Given the description of an element on the screen output the (x, y) to click on. 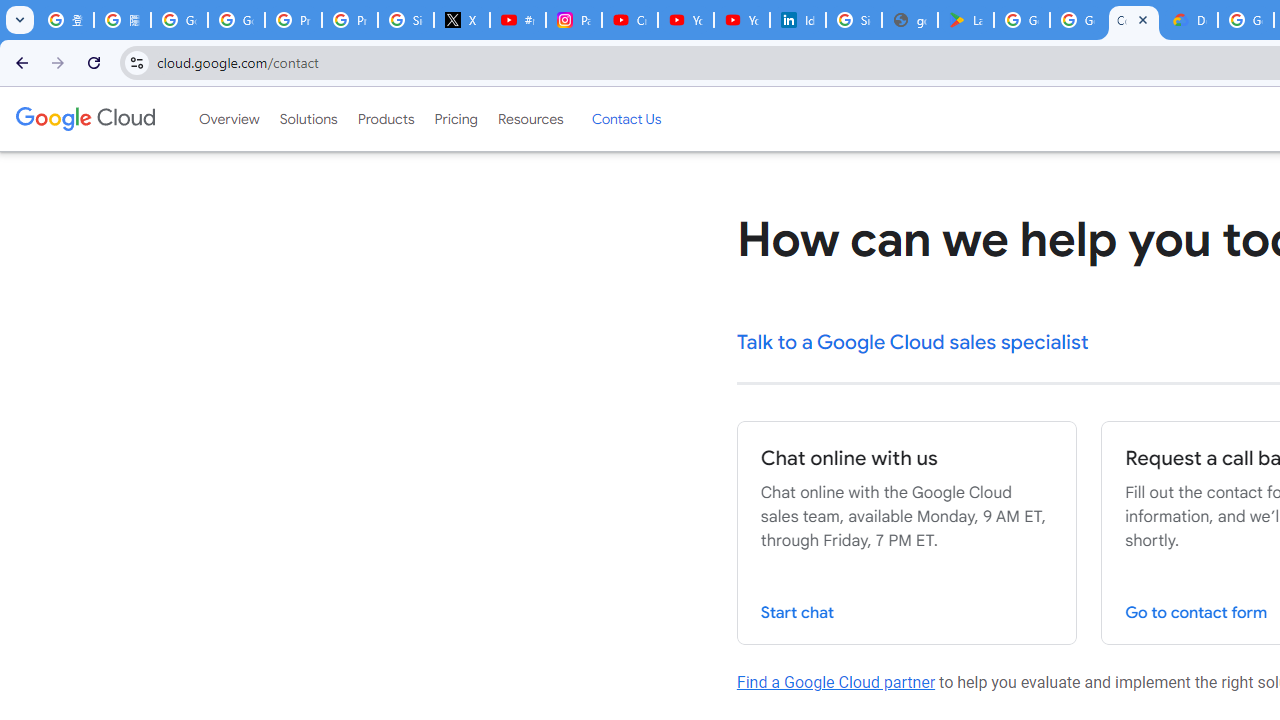
Identity verification via Persona | LinkedIn Help (797, 20)
Sign in - Google Accounts (853, 20)
Resources (530, 119)
#nbabasketballhighlights - YouTube (518, 20)
Find a Google Cloud partner (835, 682)
Close (1142, 19)
Forward (57, 62)
Privacy Help Center - Policies Help (349, 20)
View site information (136, 62)
Back (19, 62)
Solutions (308, 119)
